Given the description of an element on the screen output the (x, y) to click on. 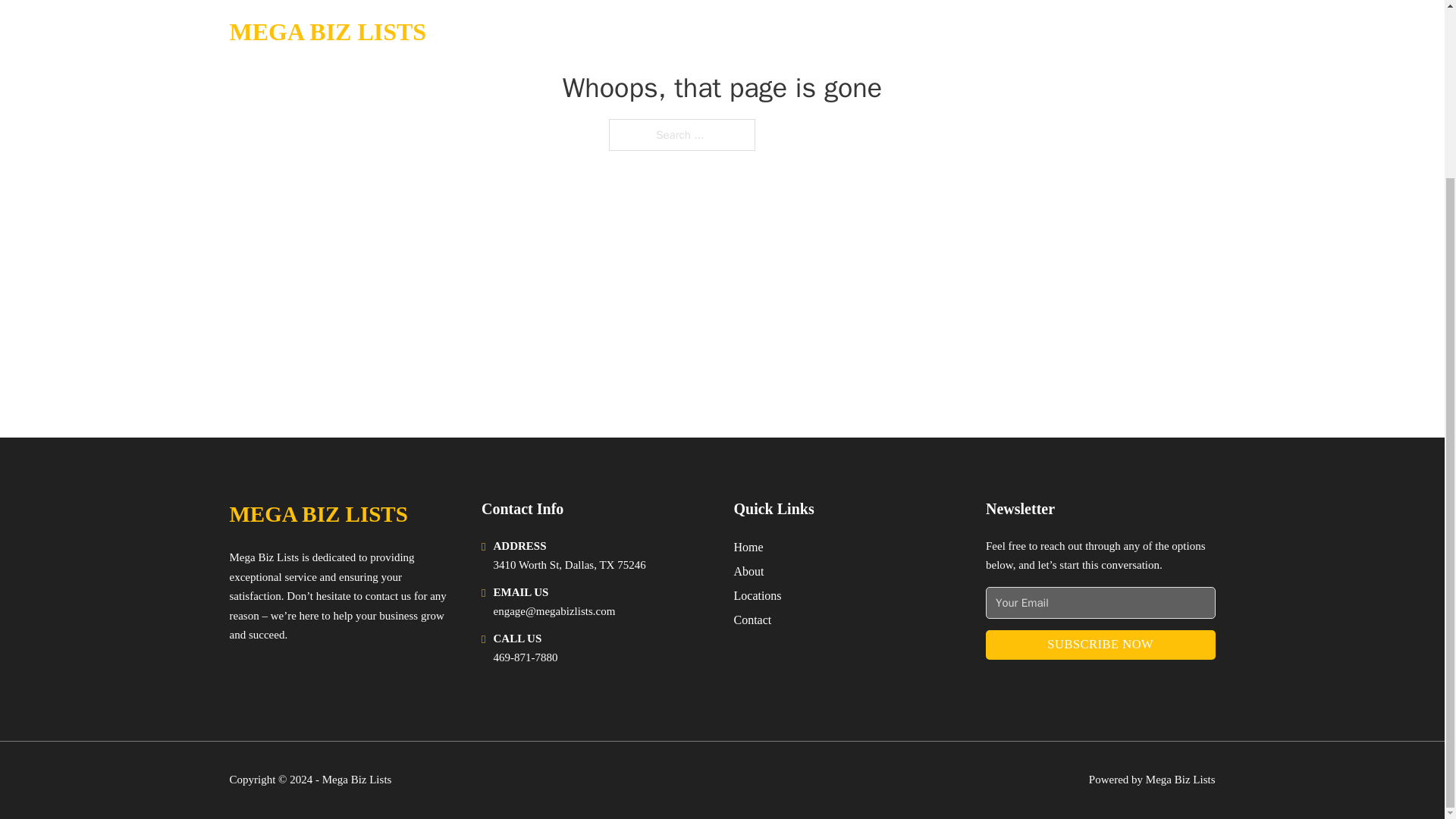
Locations (757, 595)
469-871-7880 (525, 657)
Home (747, 547)
SUBSCRIBE NOW (1100, 644)
Contact (752, 619)
MEGA BIZ LISTS (317, 514)
About (748, 571)
